Given the description of an element on the screen output the (x, y) to click on. 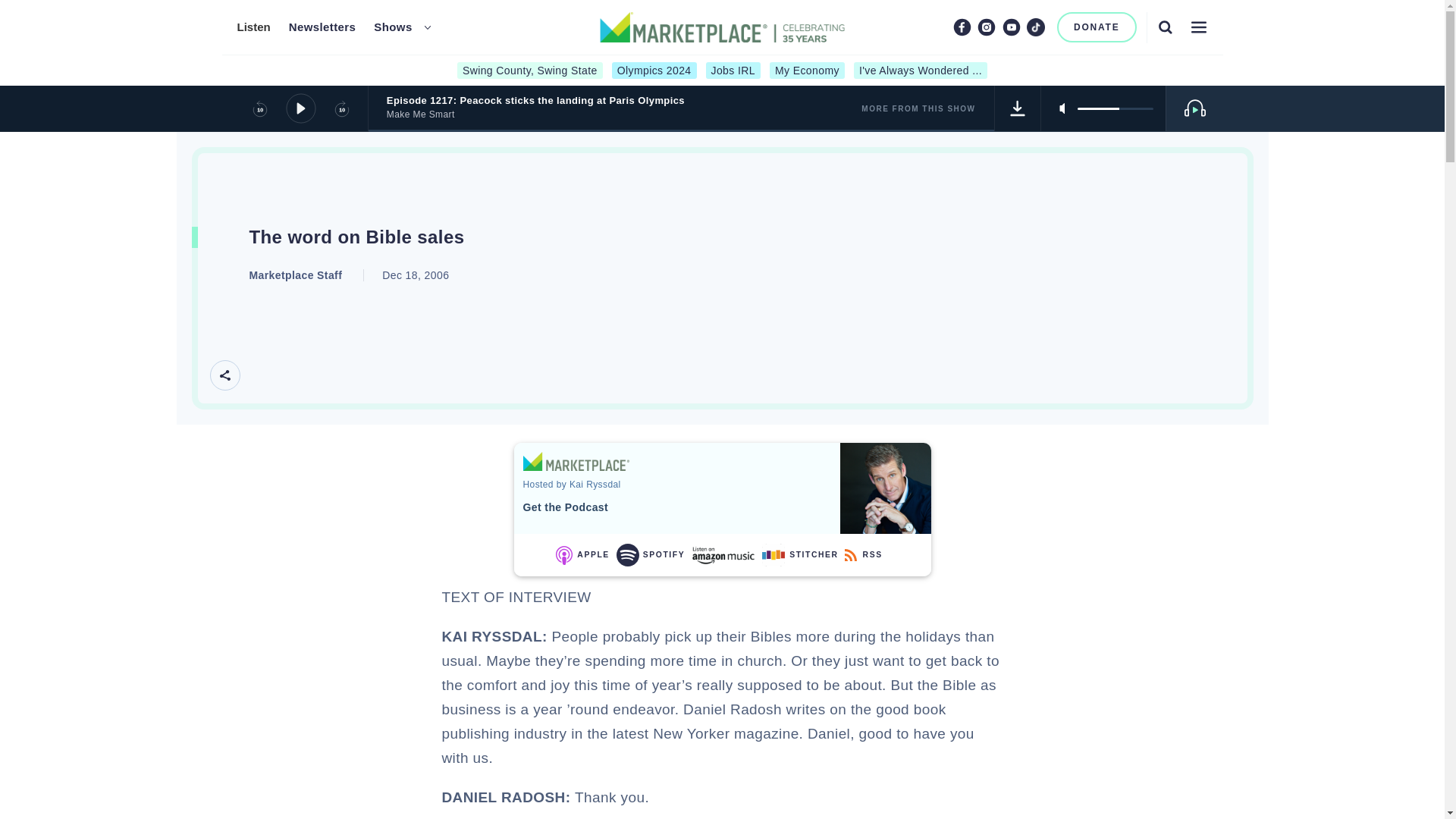
Search (1164, 27)
Instagram (985, 27)
Download Track (1017, 108)
Newsletters (322, 27)
Facebook (962, 27)
Youtube (1011, 27)
Marketplace (575, 461)
TikTok (1035, 27)
Shows (393, 26)
